Given the description of an element on the screen output the (x, y) to click on. 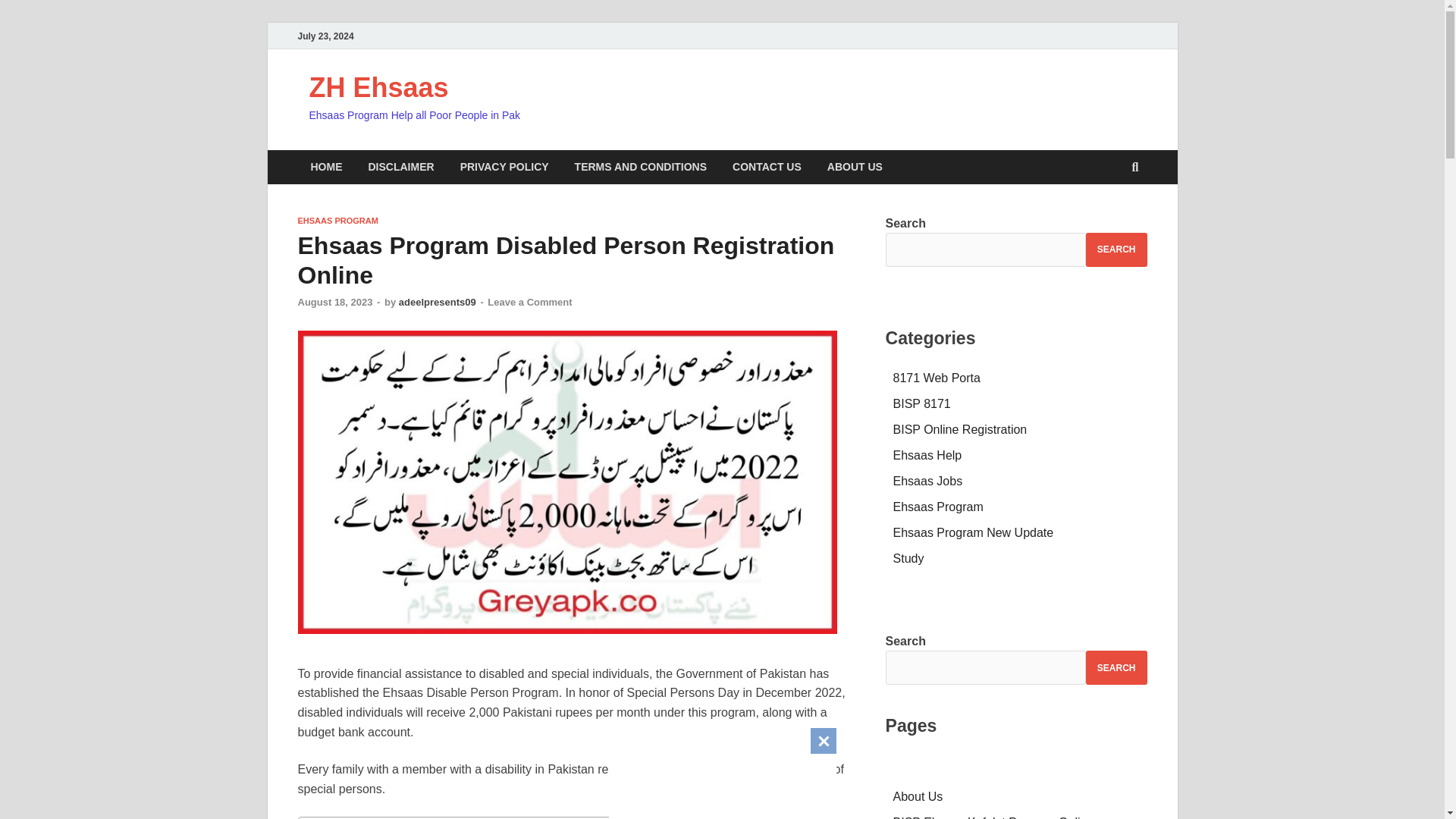
Leave a Comment (529, 301)
SEARCH (1116, 249)
CONTACT US (766, 166)
PRIVACY POLICY (504, 166)
8171 Web Porta (936, 377)
EHSAAS PROGRAM (337, 220)
TERMS AND CONDITIONS (640, 166)
ABOUT US (854, 166)
DISCLAIMER (400, 166)
ZH Ehsaas (378, 87)
August 18, 2023 (334, 301)
adeelpresents09 (437, 301)
HOME (326, 166)
